Given the description of an element on the screen output the (x, y) to click on. 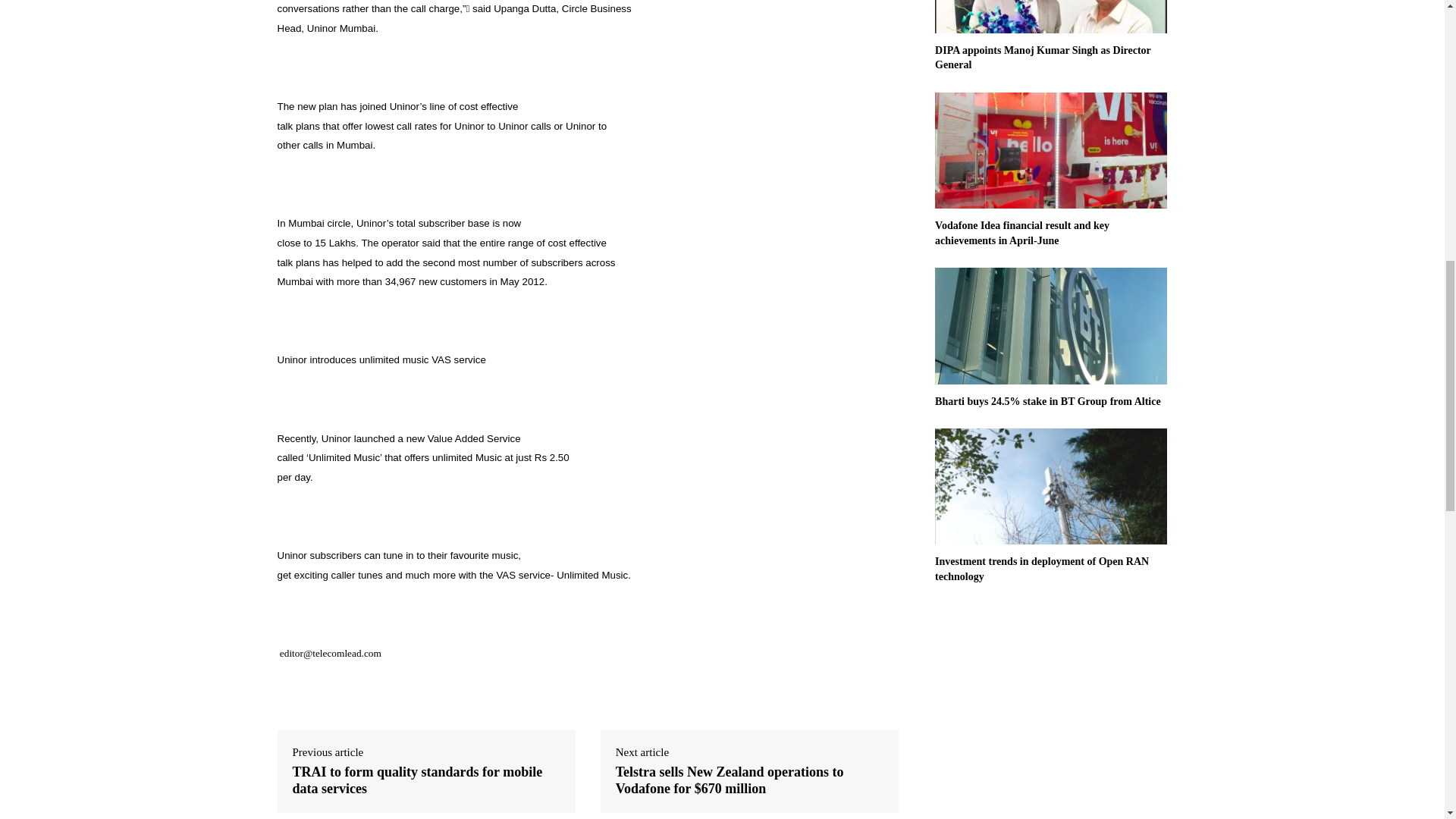
DIPA appoints Manoj Kumar Singh as Director General (1042, 58)
Investment trends in deployment of Open RAN technology (1041, 569)
Investment trends in deployment of Open RAN technology (1041, 569)
DIPA appoints Manoj Kumar Singh as Director General (1042, 58)
Investment trends in deployment of Open RAN technology (1050, 486)
DIPA appoints Manoj Kumar Singh as Director General (1050, 16)
TRAI to form quality standards for mobile data services (426, 780)
